Given the description of an element on the screen output the (x, y) to click on. 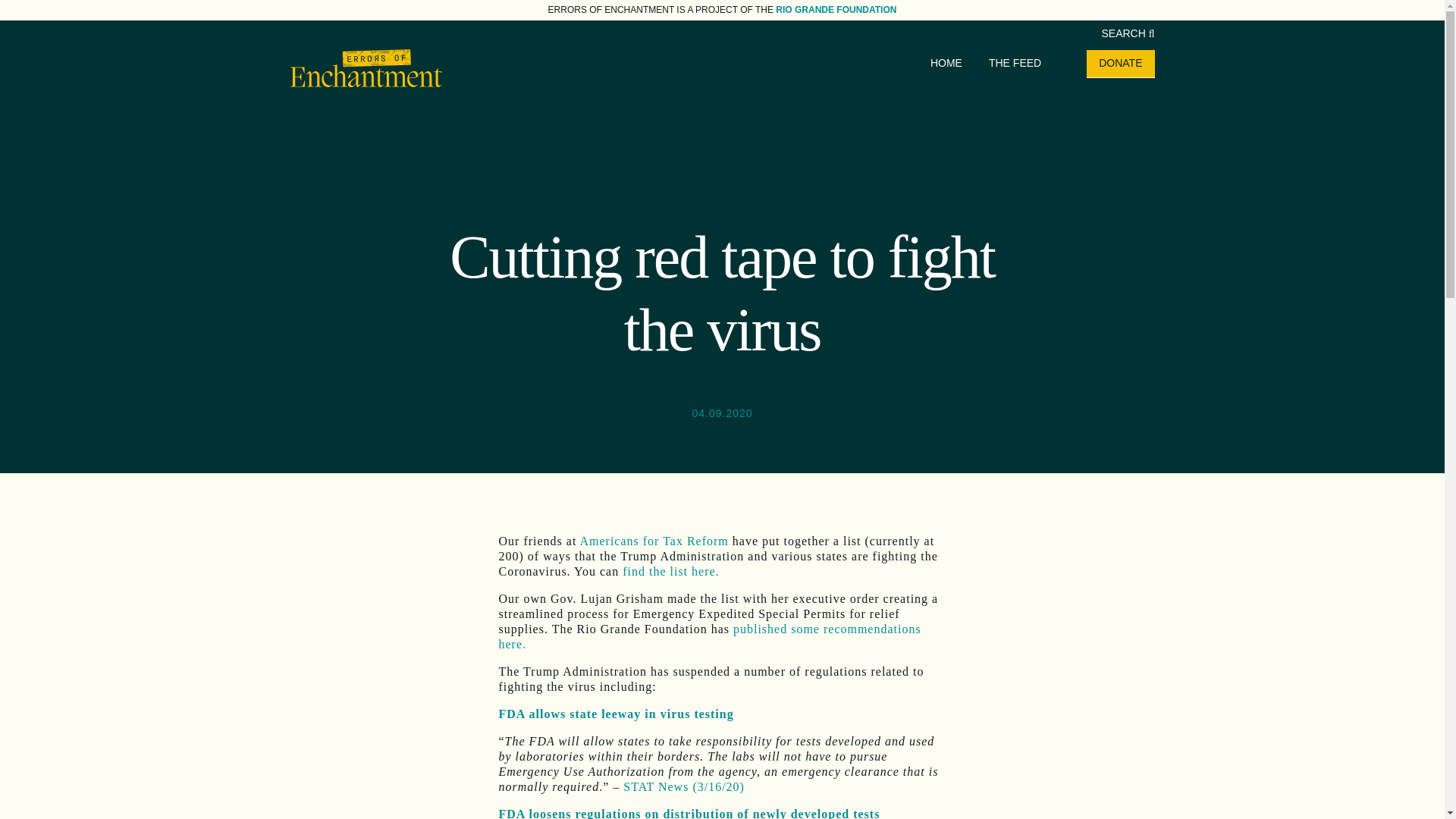
published some recommendations here. (710, 636)
THE FEED (1014, 62)
RIO GRANDE FOUNDATION (836, 9)
Americans for Tax Reform (653, 540)
HOME (946, 62)
FDA allows state leeway in virus testing (616, 713)
DONATE (1120, 62)
SEARCH (1127, 33)
find the list here. (671, 571)
